Given the description of an element on the screen output the (x, y) to click on. 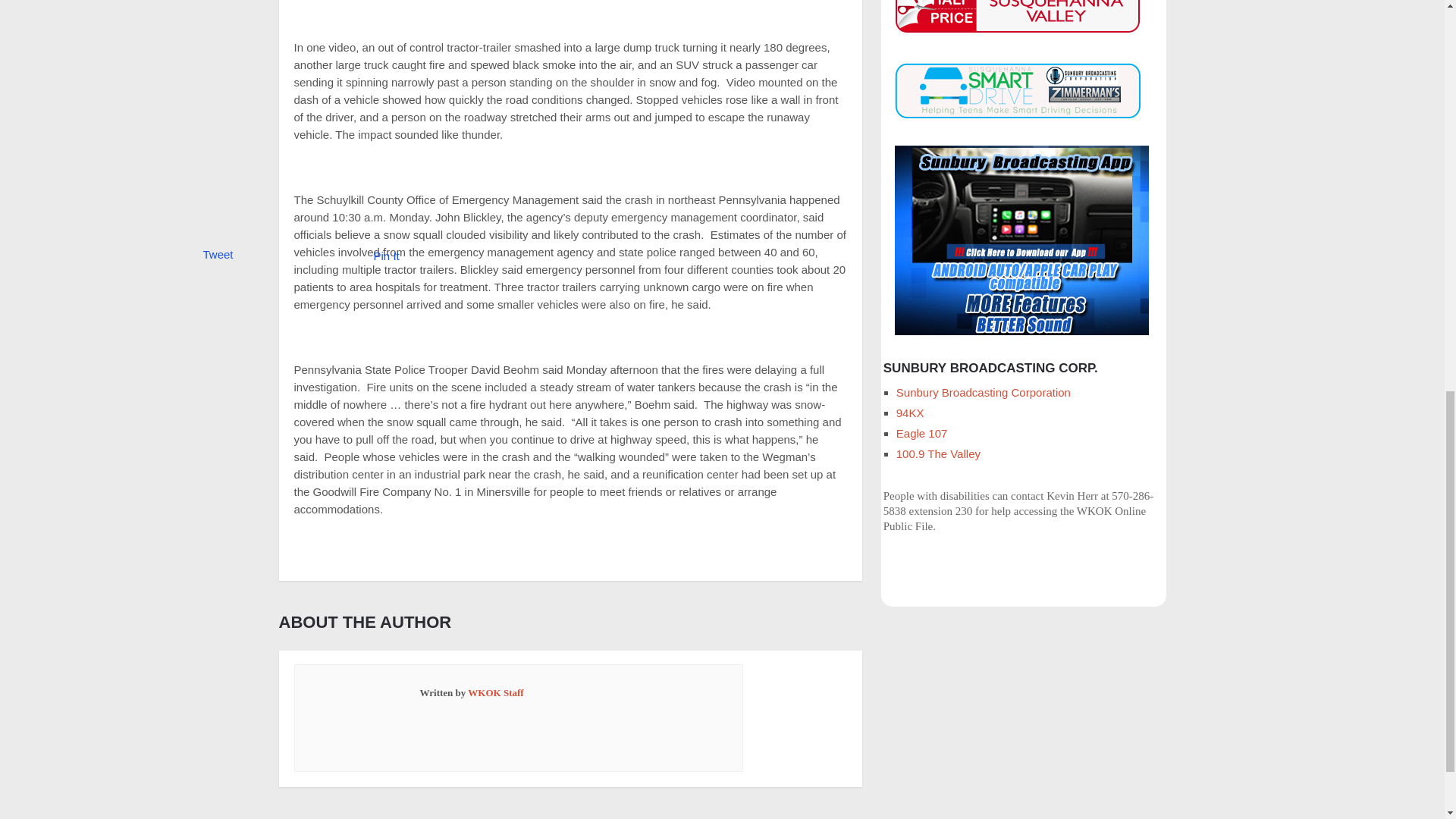
Posts by WKOK Staff (494, 692)
